Given the description of an element on the screen output the (x, y) to click on. 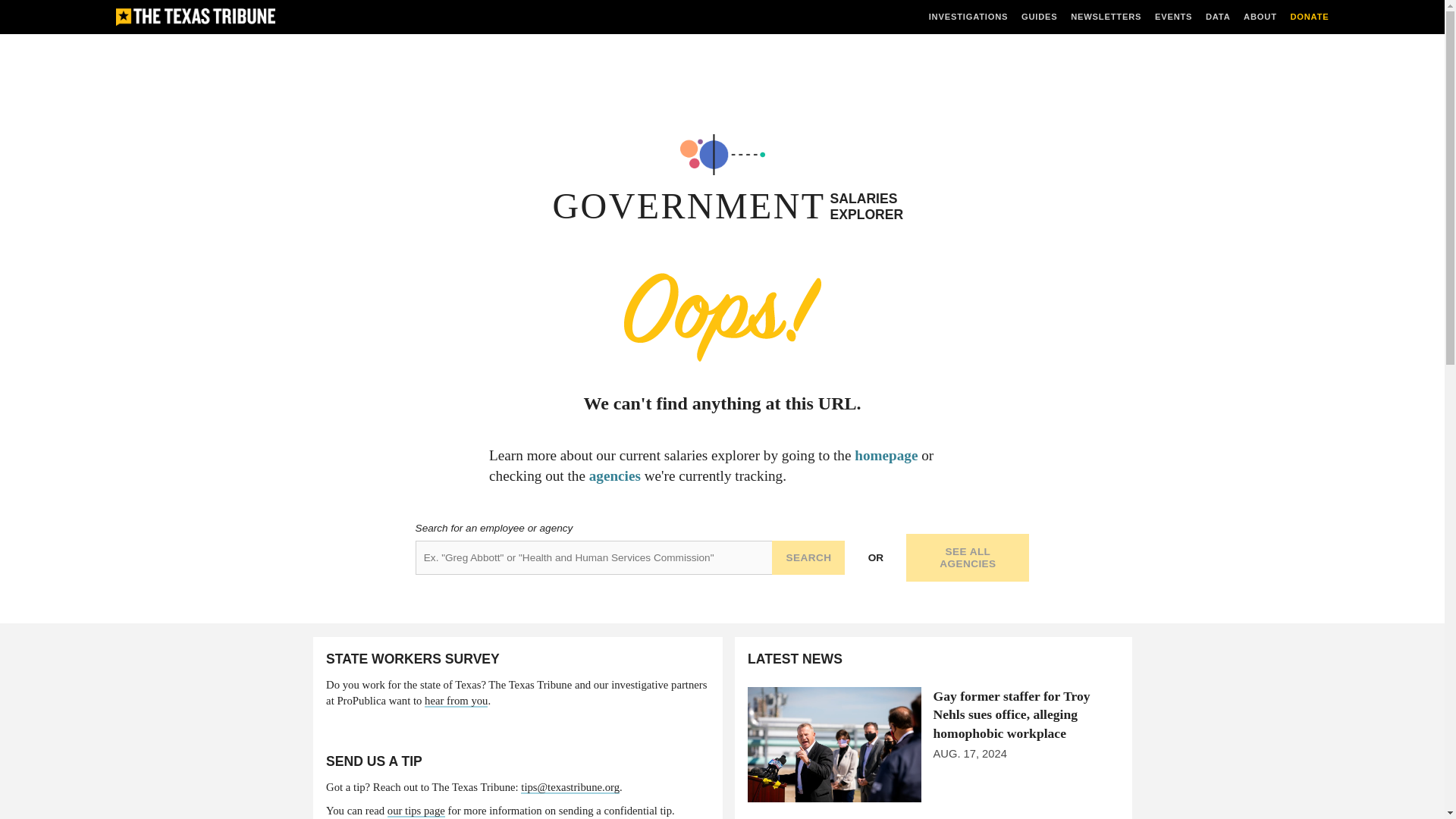
3rd party ad content (721, 81)
ABOUT (1259, 17)
SEE ALL AGENCIES (967, 556)
Search (807, 557)
EVENTS (1173, 17)
GOVERNMENT (688, 205)
NEWSLETTERS (1105, 17)
INVESTIGATIONS (968, 17)
agencies (614, 475)
